Given the description of an element on the screen output the (x, y) to click on. 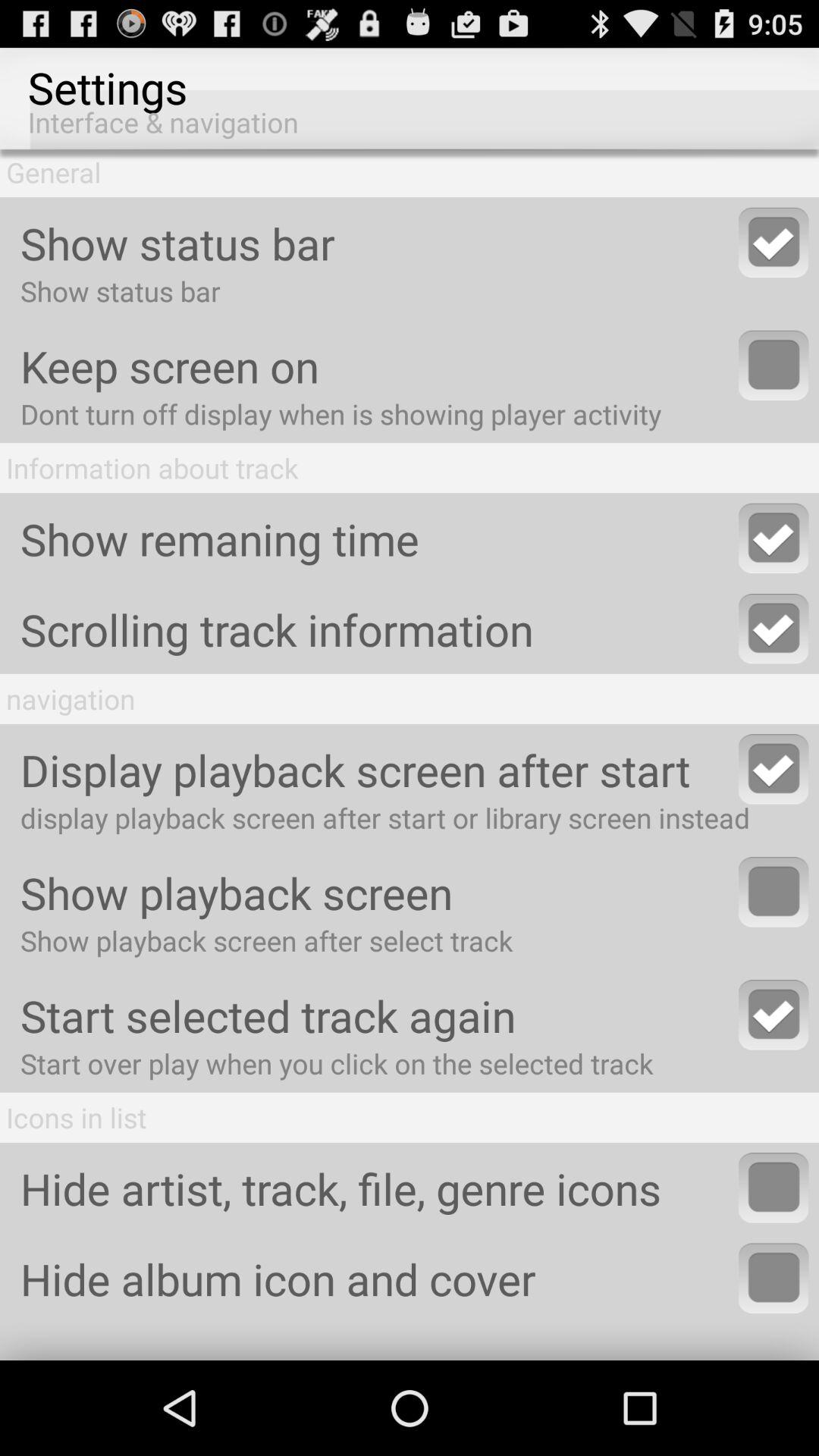
show remaining time option (773, 538)
